Given the description of an element on the screen output the (x, y) to click on. 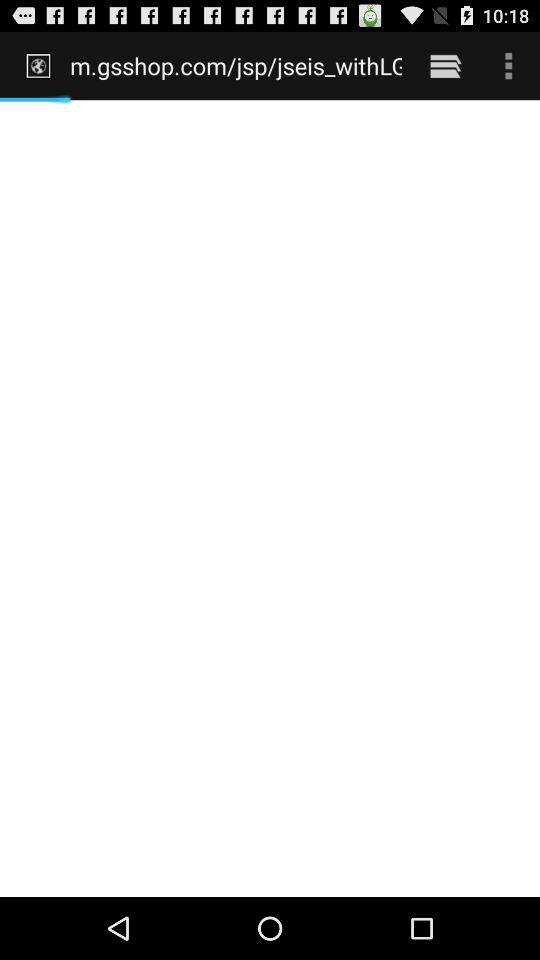
jump until m gsshop com icon (235, 65)
